Given the description of an element on the screen output the (x, y) to click on. 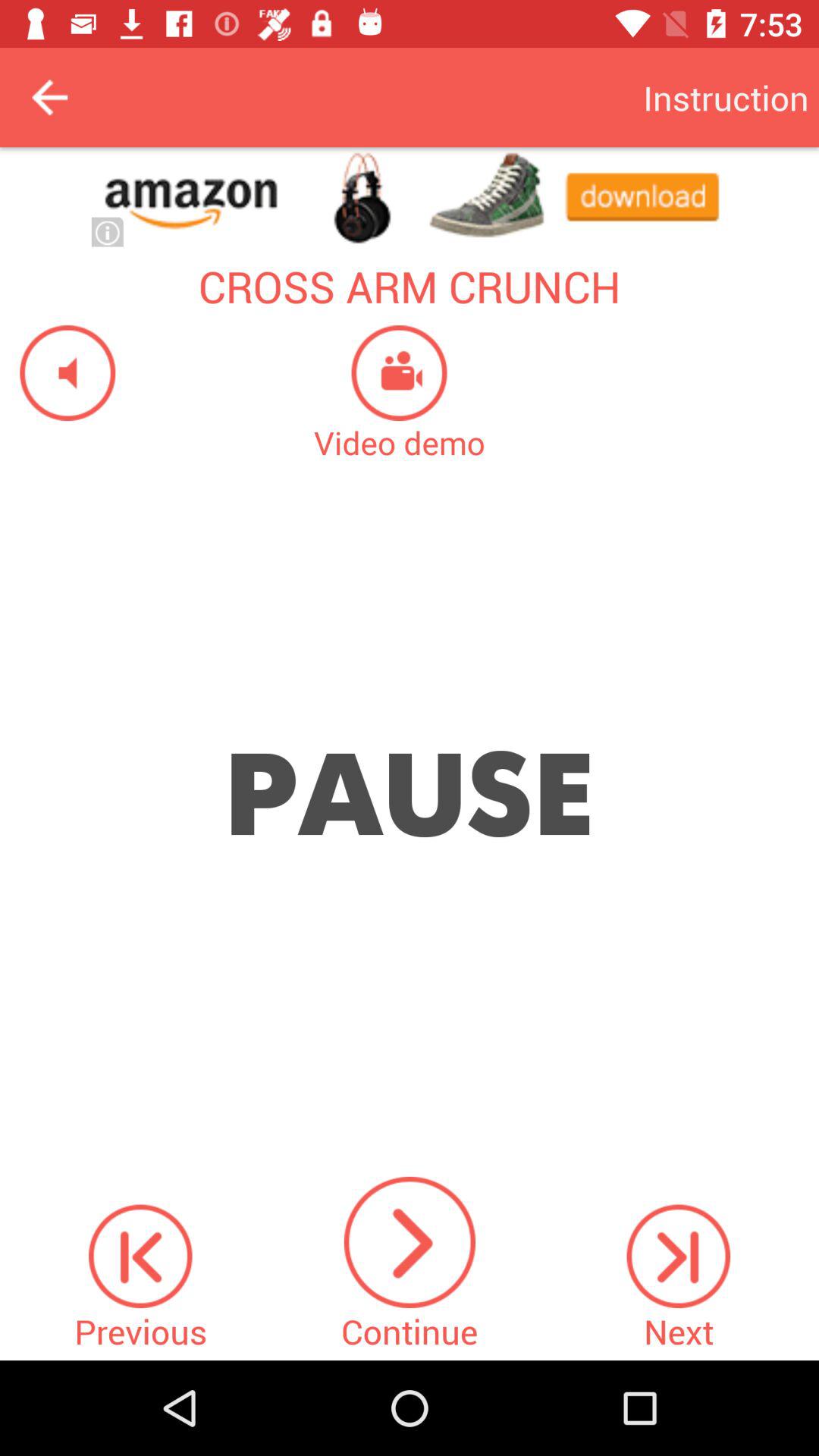
switch on sound (57, 372)
